Given the description of an element on the screen output the (x, y) to click on. 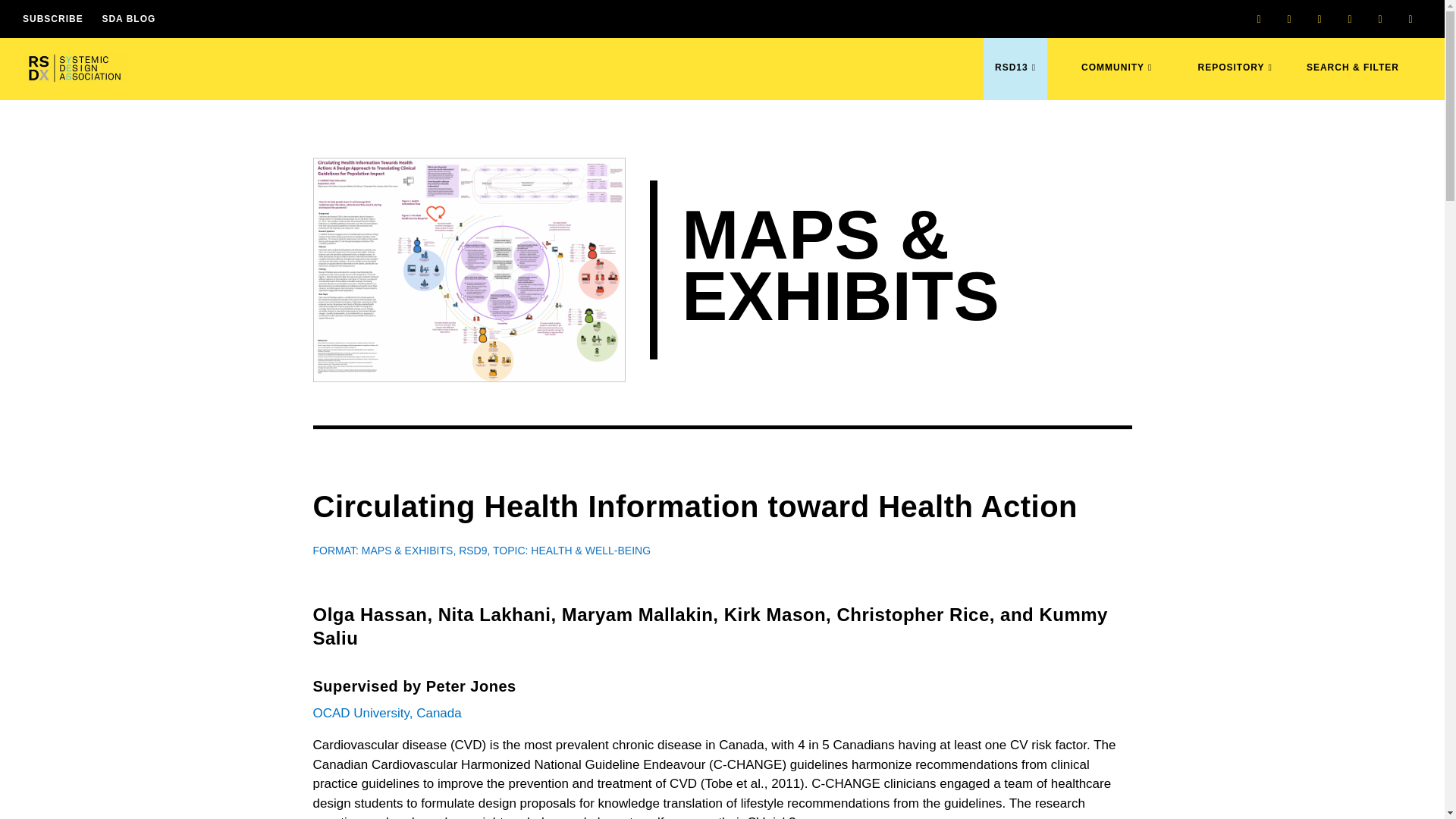
SDA BLOG (128, 18)
SUBSCRIBE (52, 18)
RSD13 (1014, 79)
COMMUNITY (1116, 79)
